Given the description of an element on the screen output the (x, y) to click on. 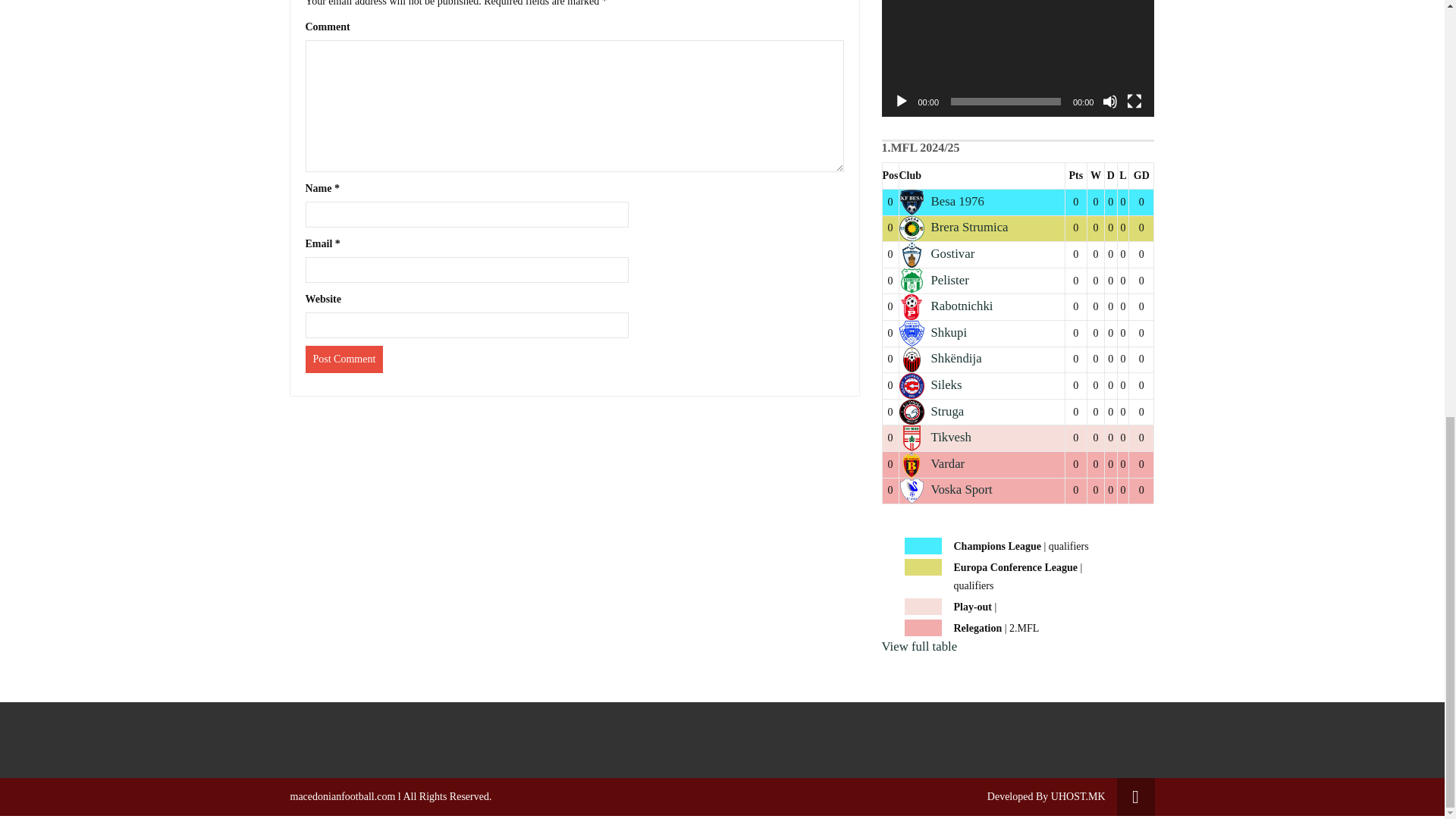
Post Comment (343, 359)
Play (900, 101)
Fullscreen (1133, 101)
Mute (1110, 101)
